Given the description of an element on the screen output the (x, y) to click on. 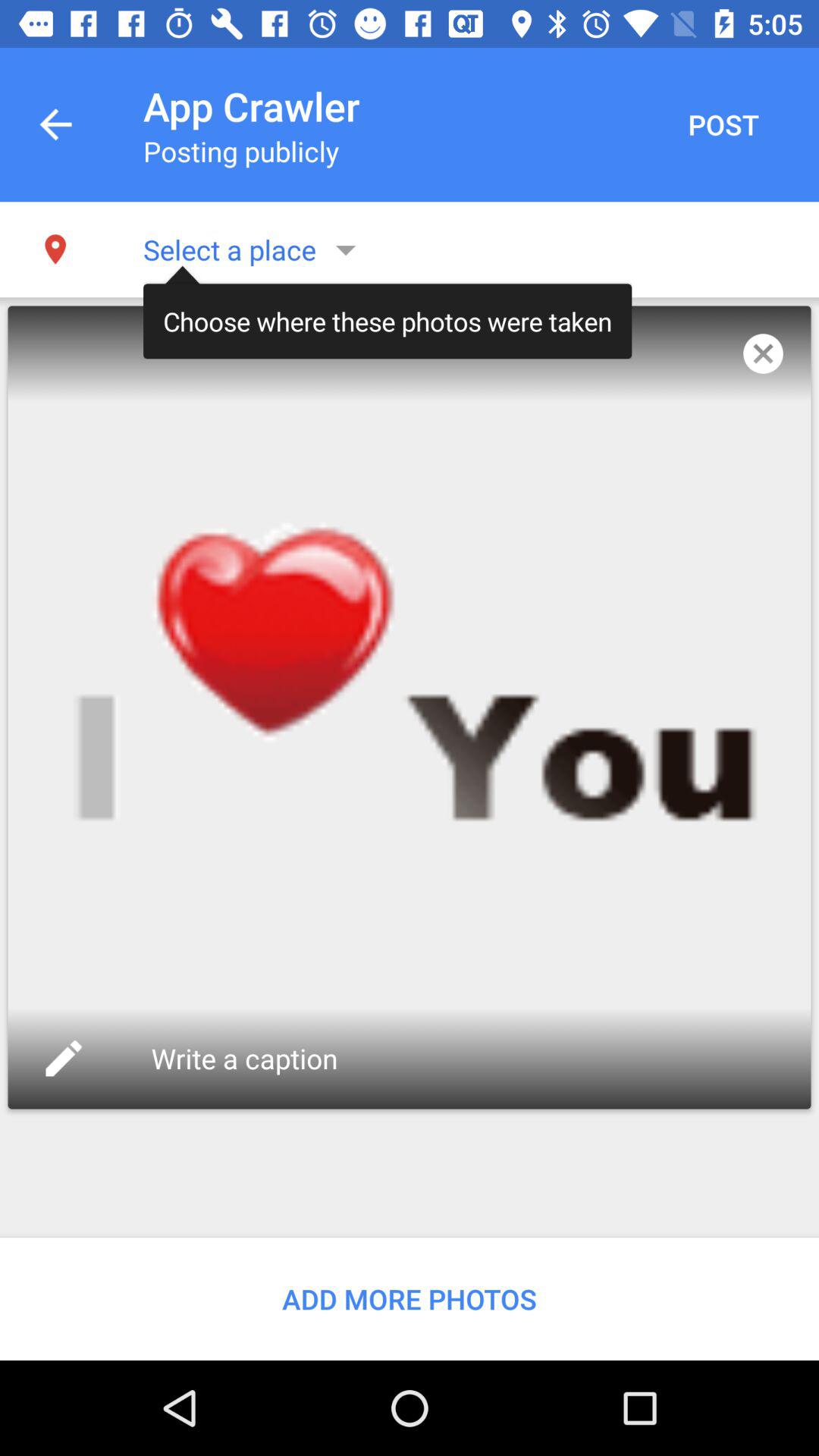
choose icon next to the choose where these icon (763, 353)
